Given the description of an element on the screen output the (x, y) to click on. 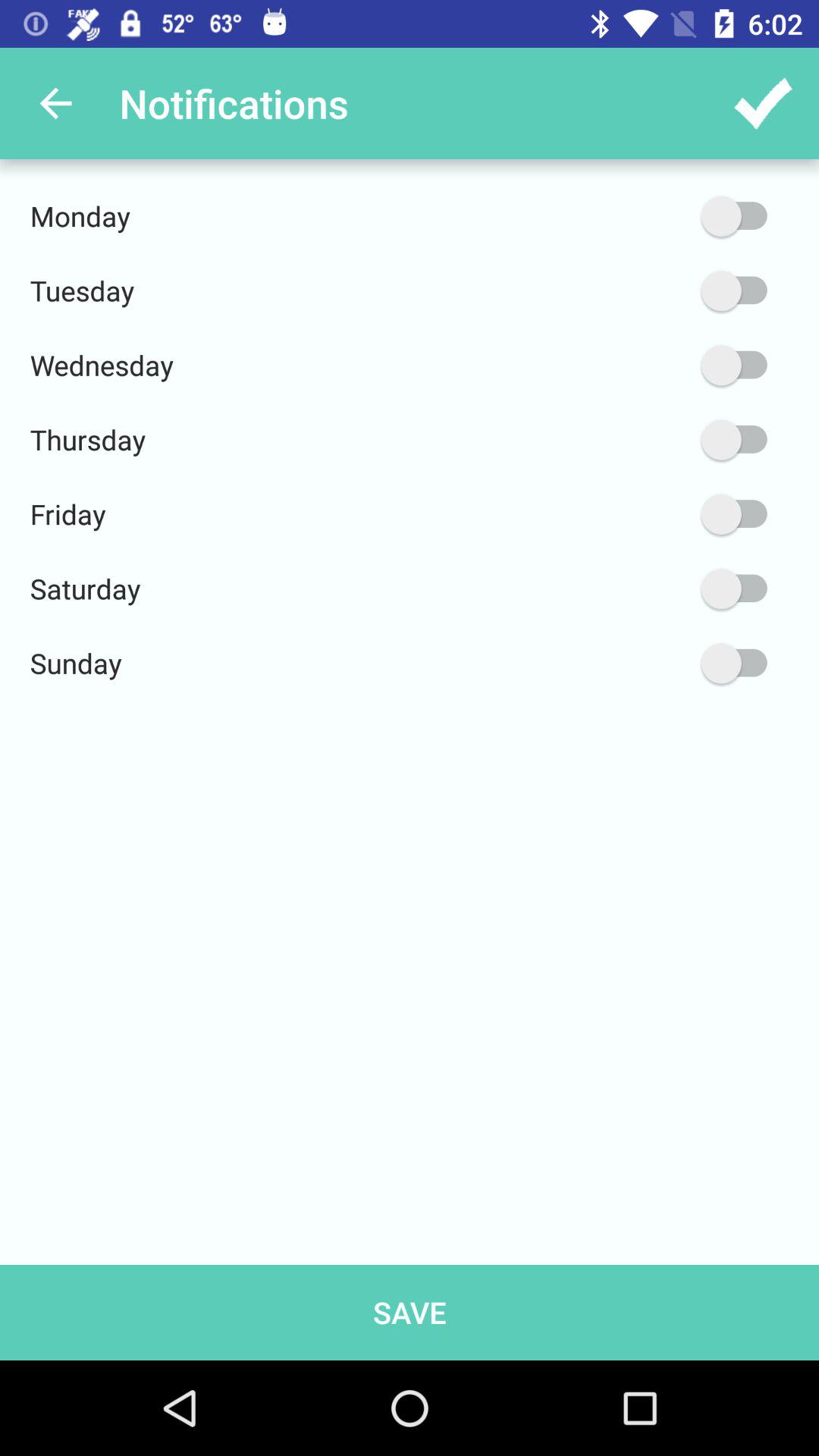
select the icon above the monday (55, 103)
